Given the description of an element on the screen output the (x, y) to click on. 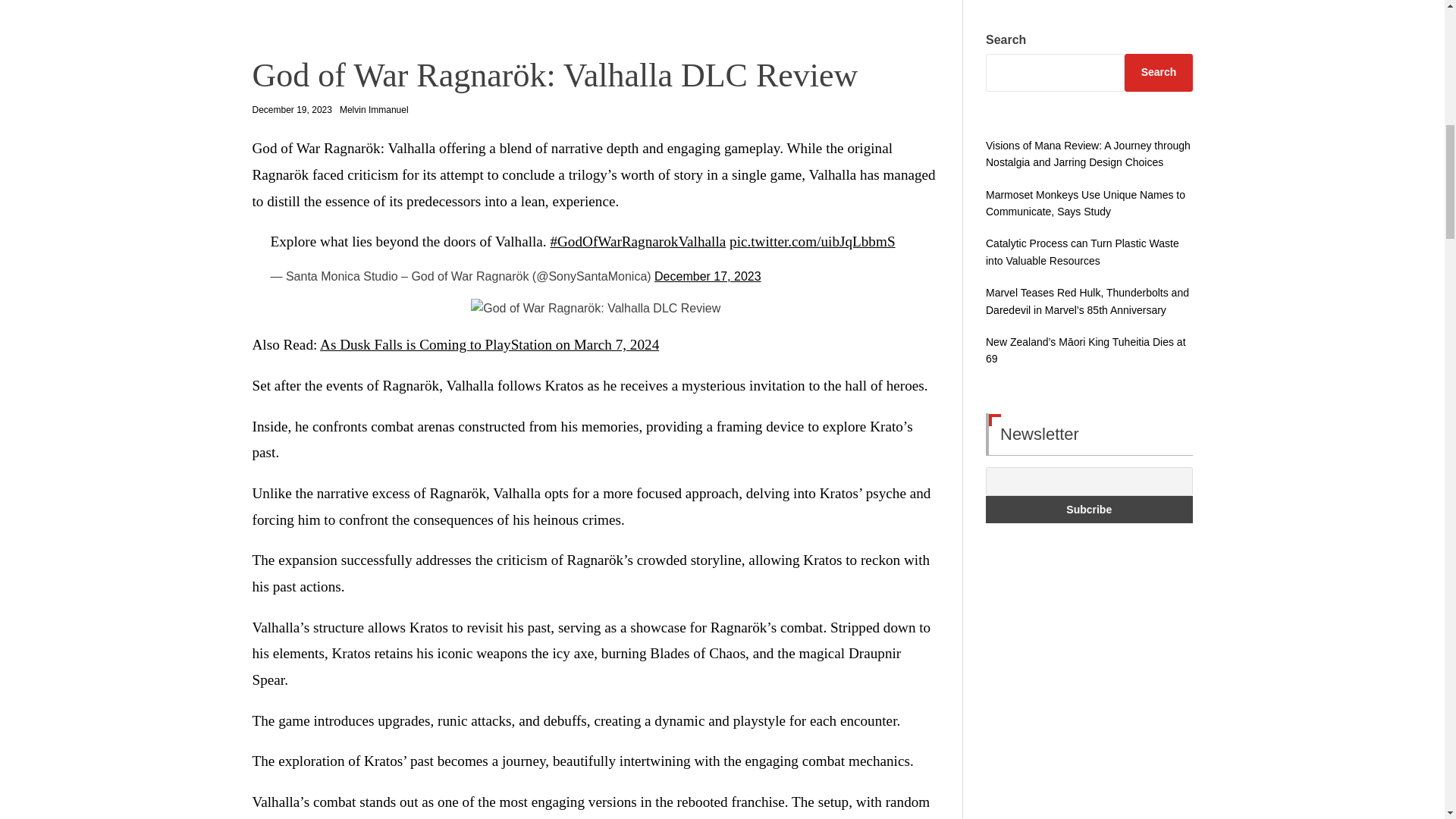
Melvin Immanuel (374, 109)
December 17, 2023 (707, 276)
December 19, 2023 (291, 110)
As Dusk Falls is Coming to PlayStation on March 7, 2024 (489, 344)
